Given the description of an element on the screen output the (x, y) to click on. 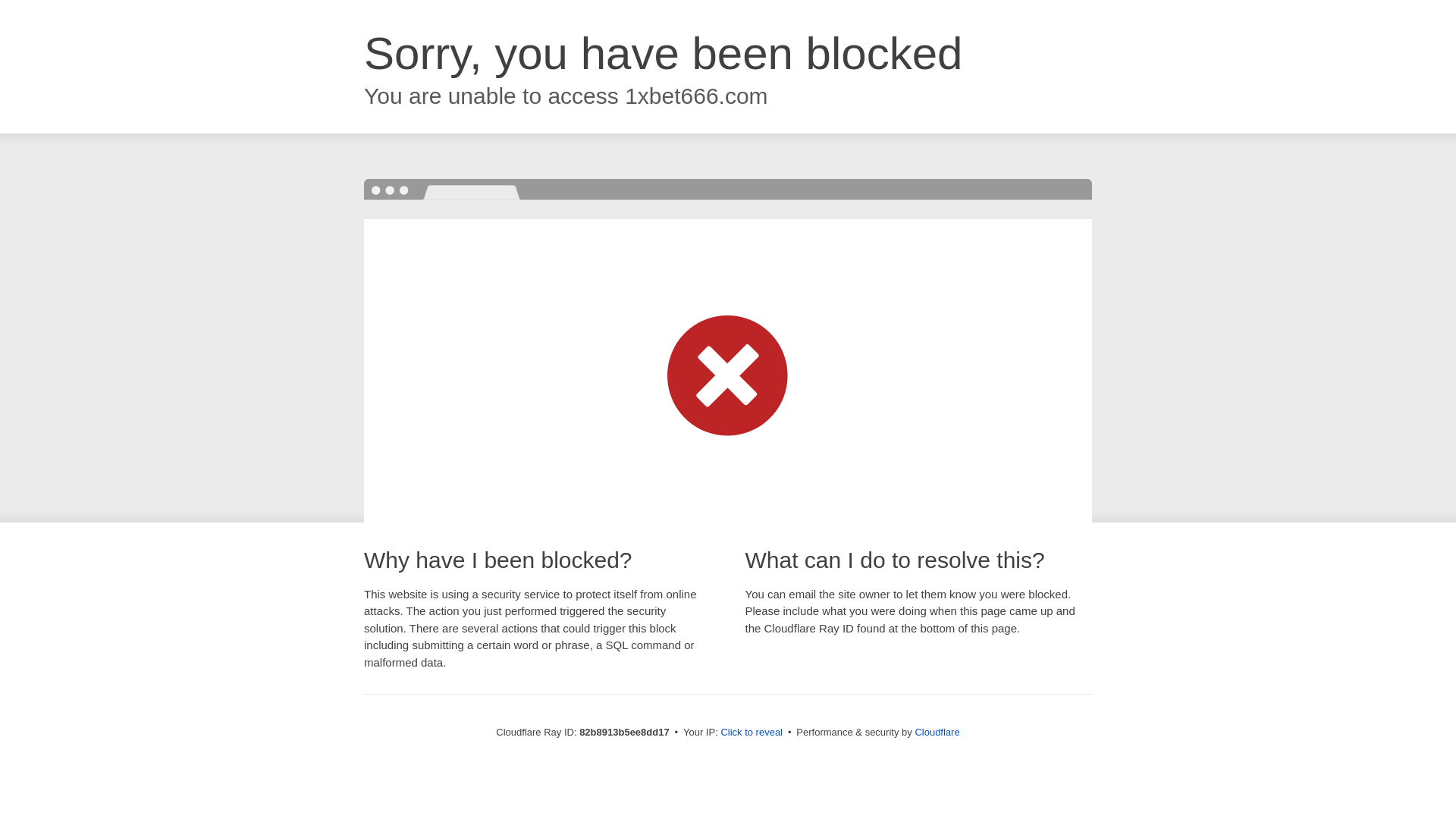
Cloudflare Element type: text (936, 731)
Click to reveal Element type: text (751, 732)
